Given the description of an element on the screen output the (x, y) to click on. 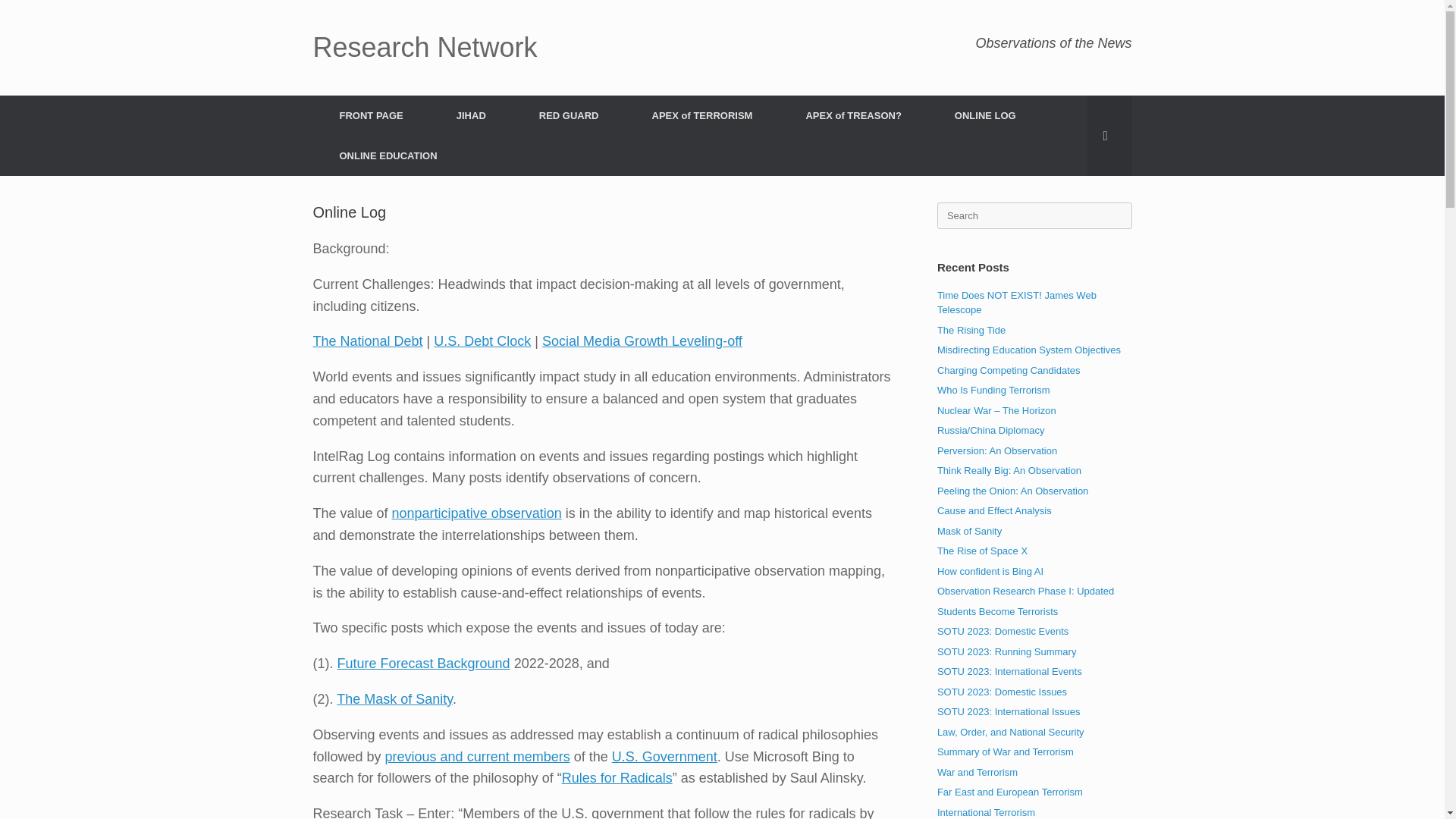
Cause and Effect Analysis (994, 510)
APEX of TREASON? (852, 115)
Social Media Growth Leveling-off (641, 340)
Charging Competing Candidates (1008, 369)
Think Really Big: An Observation (1009, 470)
U.S. Government (664, 756)
Rules for Radicals (617, 777)
JIHAD (470, 115)
The National Debt (367, 340)
Research Network (425, 47)
